Given the description of an element on the screen output the (x, y) to click on. 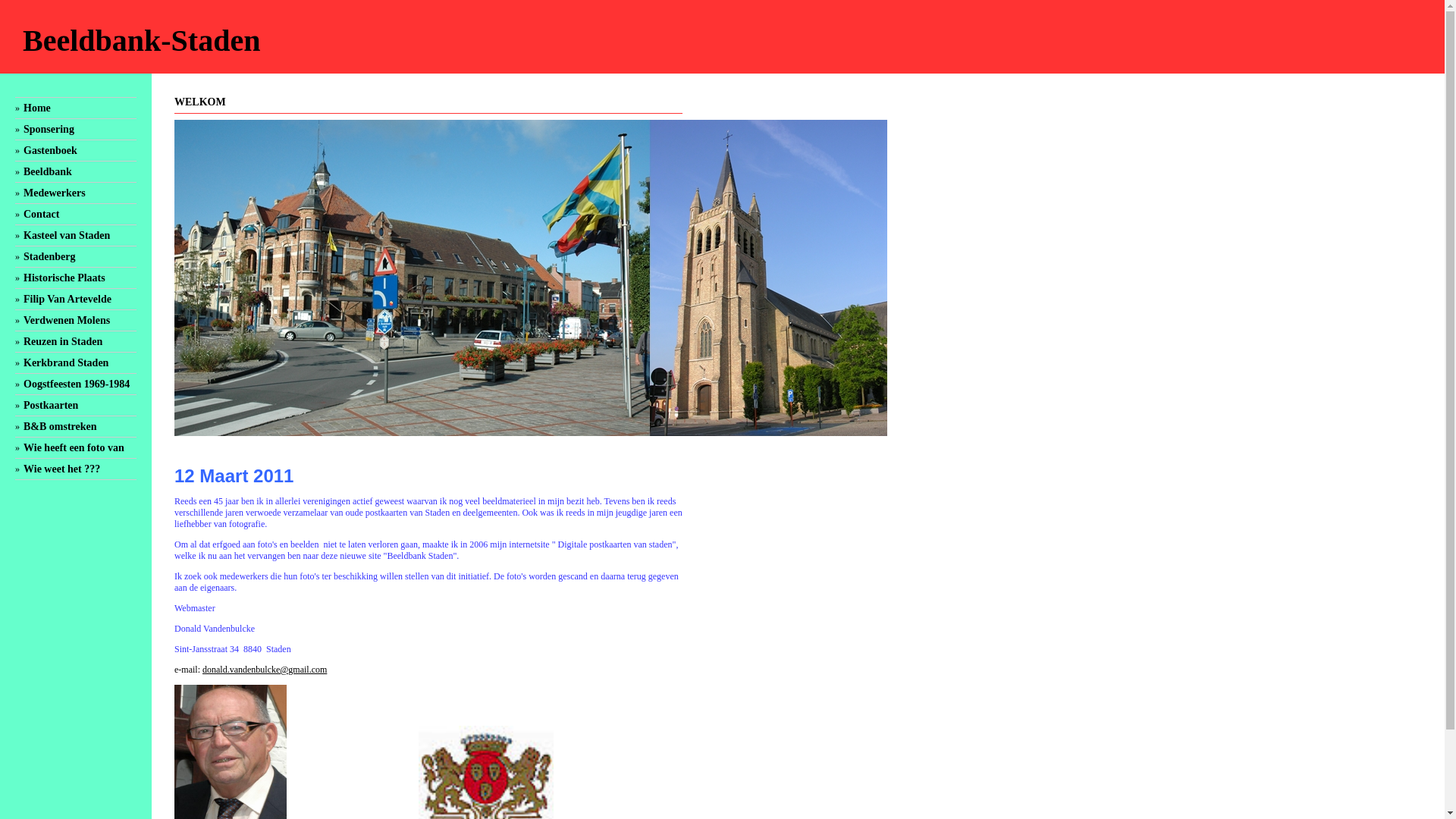
Kasteel van Staden Element type: text (66, 235)
Verdwenen Molens Element type: text (66, 320)
Oogstfeesten 1969-1984 Element type: text (76, 383)
Medewerkers Element type: text (54, 192)
Stadenberg Element type: text (49, 256)
donald.vandenbulcke@gmail.com Element type: text (264, 669)
Sponsering Element type: text (48, 128)
Beeldbank-Staden Element type: text (141, 40)
B&B omstreken Element type: text (60, 426)
Filip Van Artevelde Element type: text (67, 298)
Contact Element type: text (41, 213)
Wie heeft een foto van Element type: text (73, 447)
Beeldbank Element type: text (47, 171)
Wie weet het ??? Element type: text (61, 468)
Home Element type: text (36, 107)
Postkaarten Element type: text (50, 405)
Gastenboek Element type: text (50, 150)
Reuzen in Staden Element type: text (62, 341)
Kerkbrand Staden Element type: text (65, 362)
Historische Plaats Element type: text (64, 277)
